Given the description of an element on the screen output the (x, y) to click on. 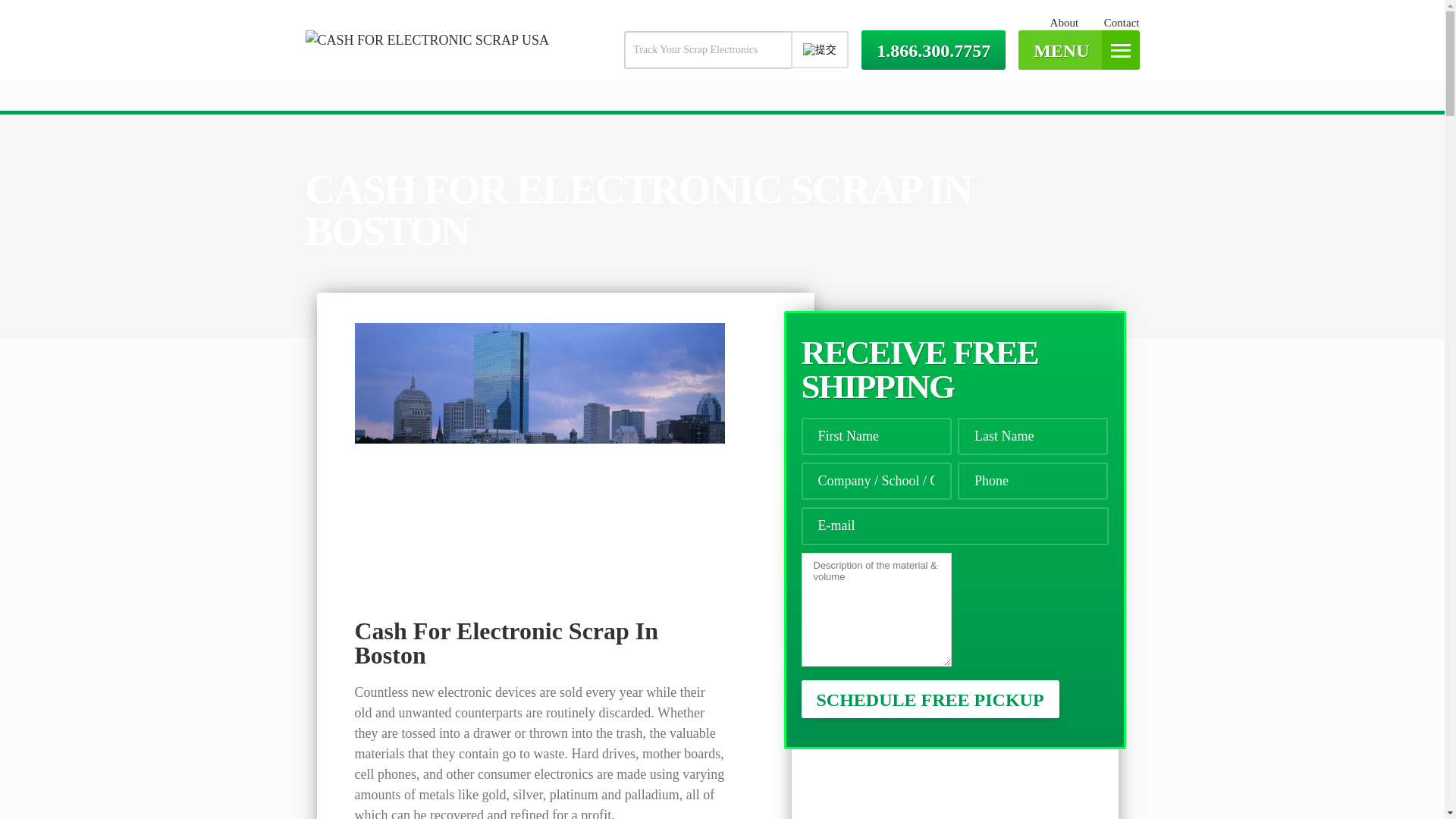
1.866.300.7757 (933, 49)
Contact (1121, 22)
Boston Skyline (540, 445)
About (1063, 22)
SCHEDULE FREE PICKUP (929, 699)
